Given the description of an element on the screen output the (x, y) to click on. 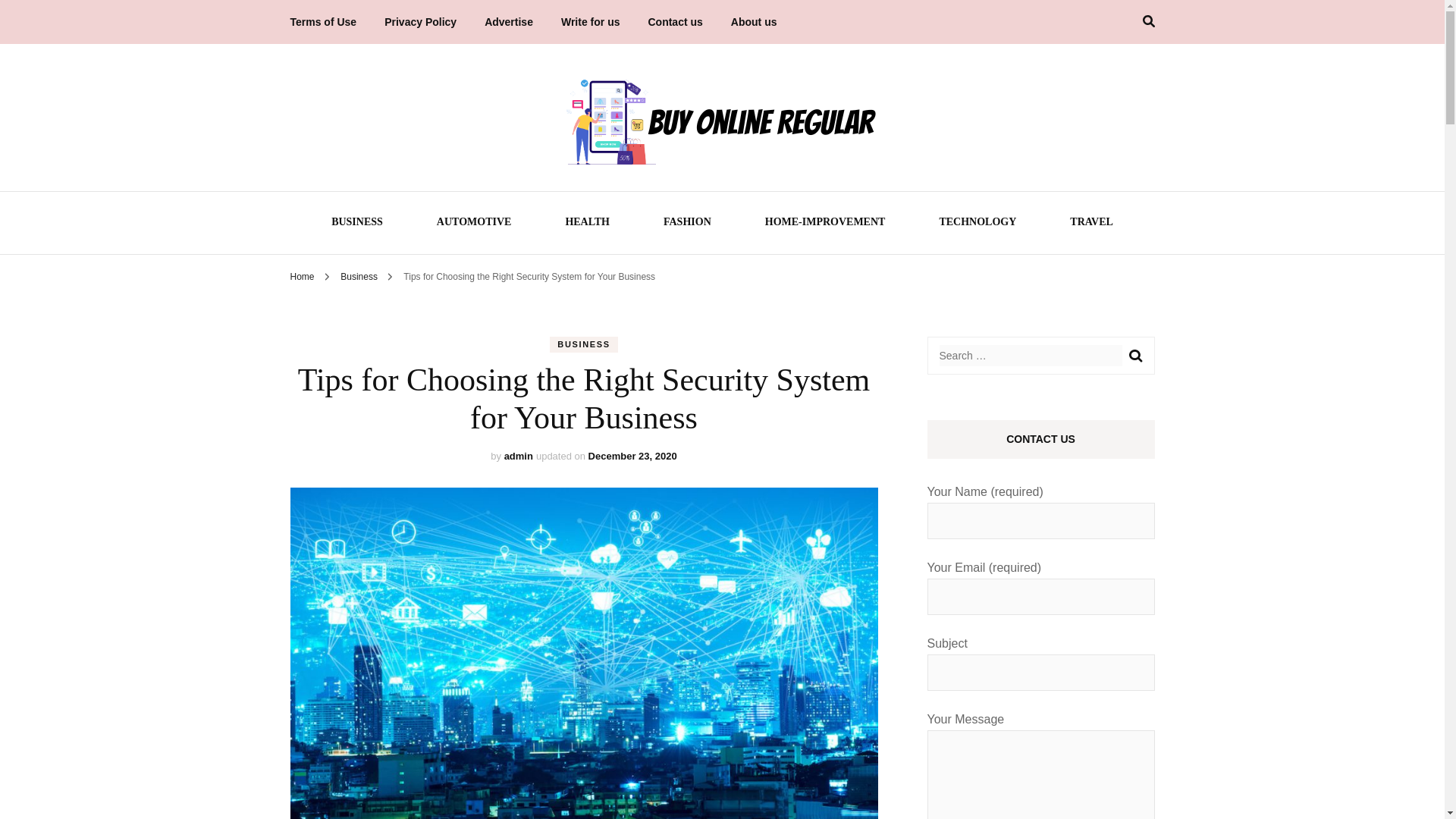
Privacy Policy (420, 21)
HOME-IMPROVEMENT (825, 223)
FASHION (687, 223)
December 23, 2020 (632, 455)
Advertise (508, 21)
About us (753, 21)
Search (1134, 355)
admin (517, 455)
BUSINESS (583, 344)
Write for us (590, 21)
